Given the description of an element on the screen output the (x, y) to click on. 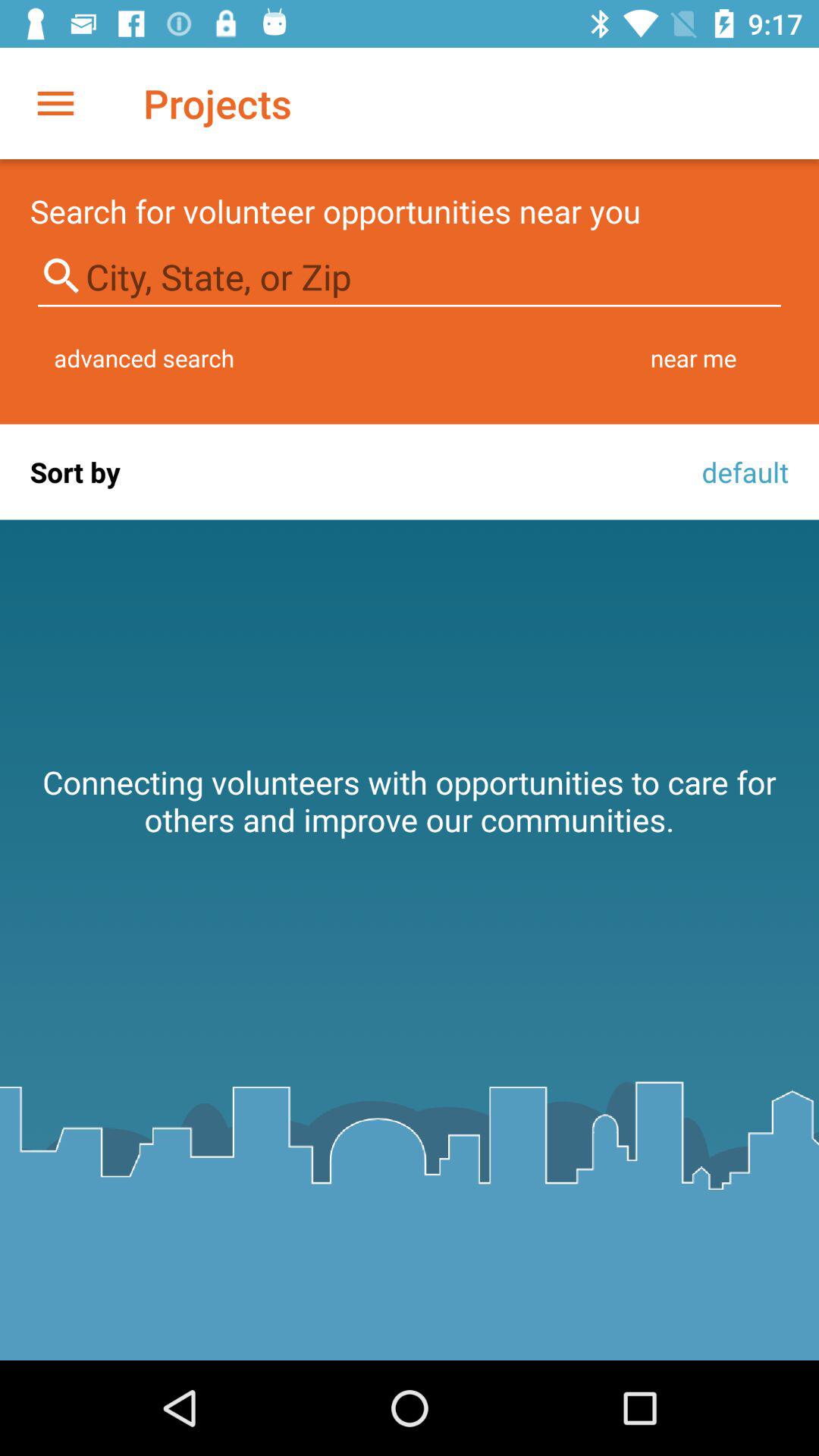
select item next to projects item (55, 103)
